Given the description of an element on the screen output the (x, y) to click on. 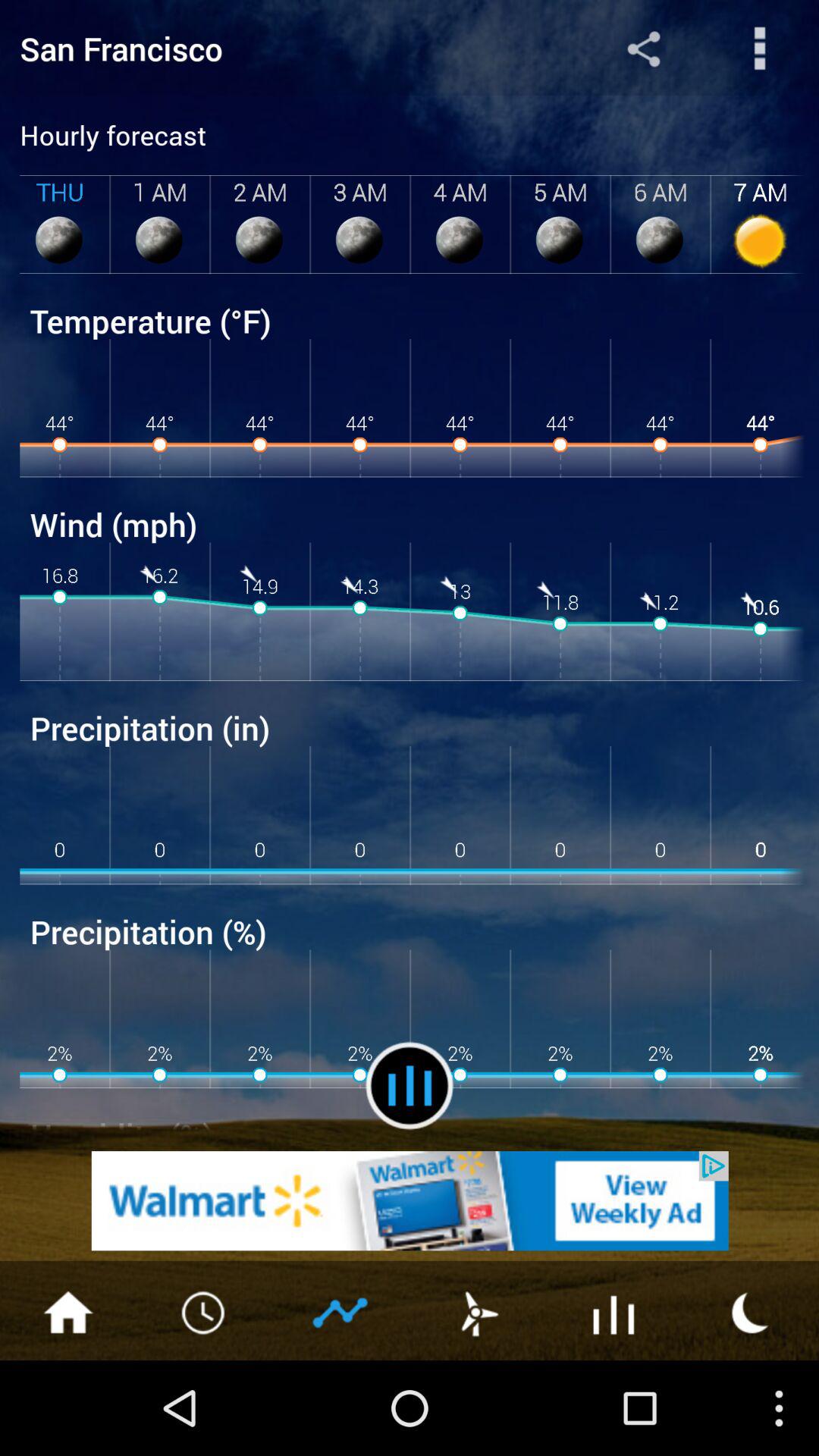
select night mood (750, 1311)
